Given the description of an element on the screen output the (x, y) to click on. 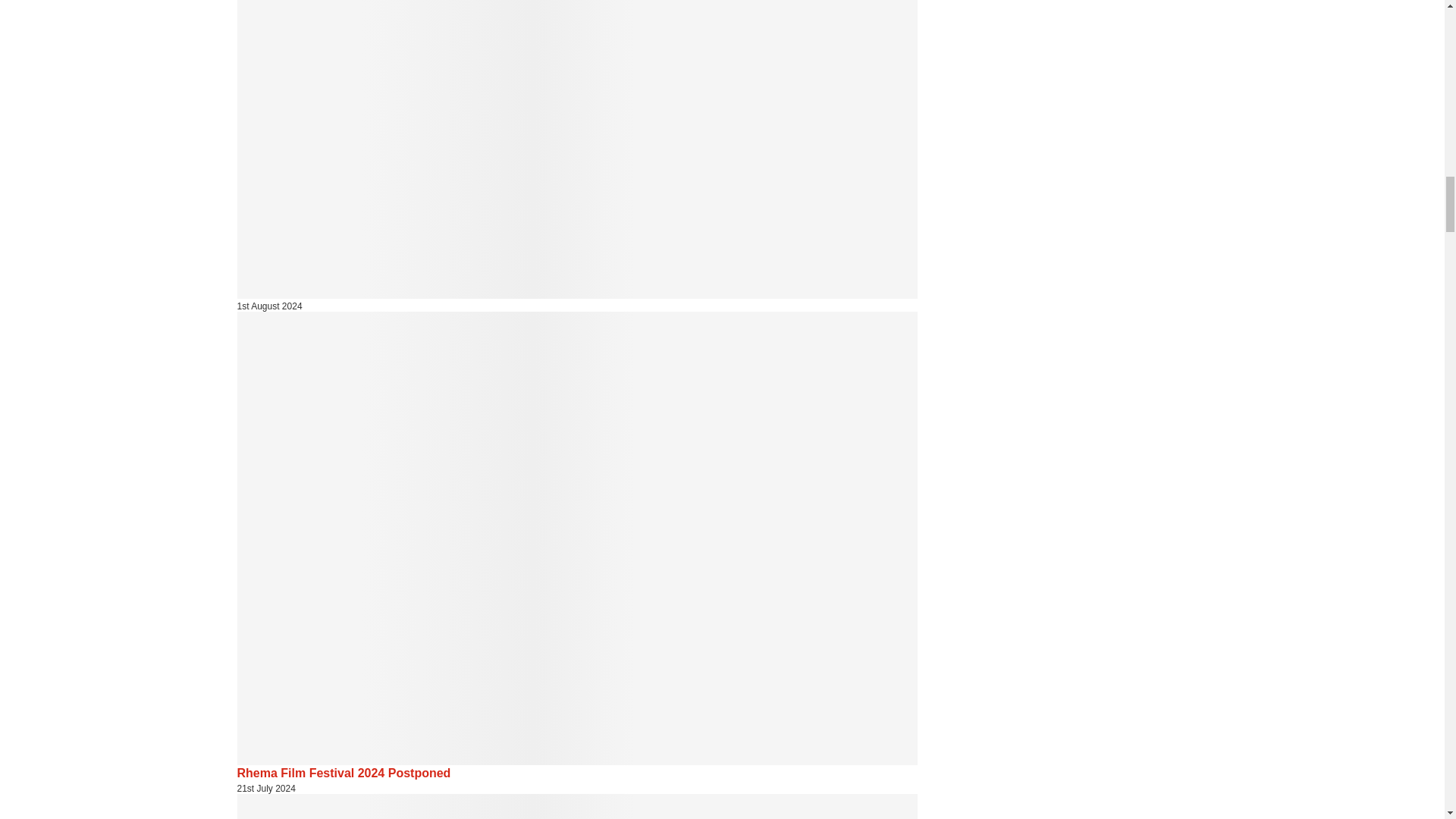
Movie Prediction: Abattoir Season 5 (576, 806)
